Given the description of an element on the screen output the (x, y) to click on. 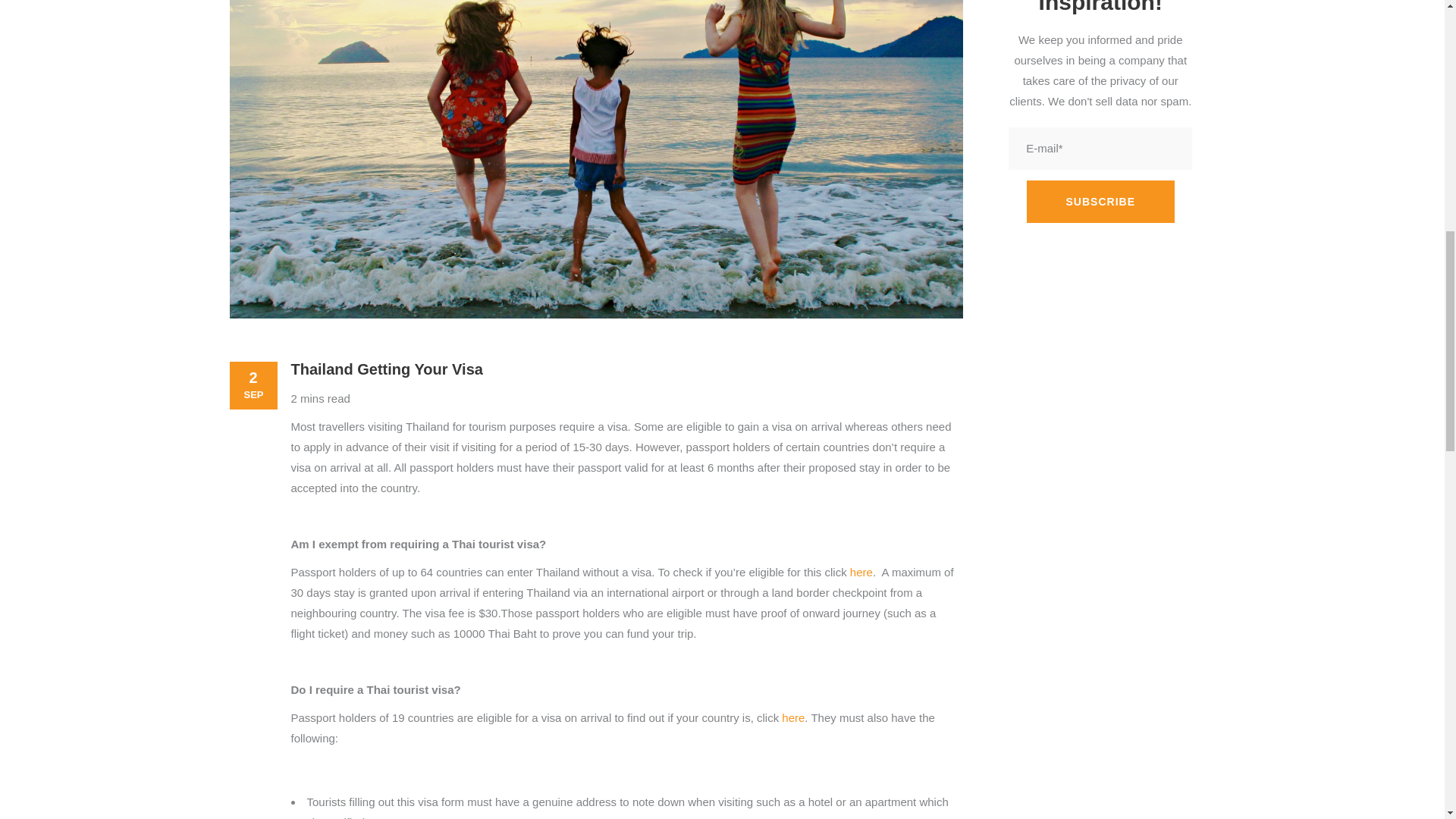
Subscribe (1100, 201)
